Given the description of an element on the screen output the (x, y) to click on. 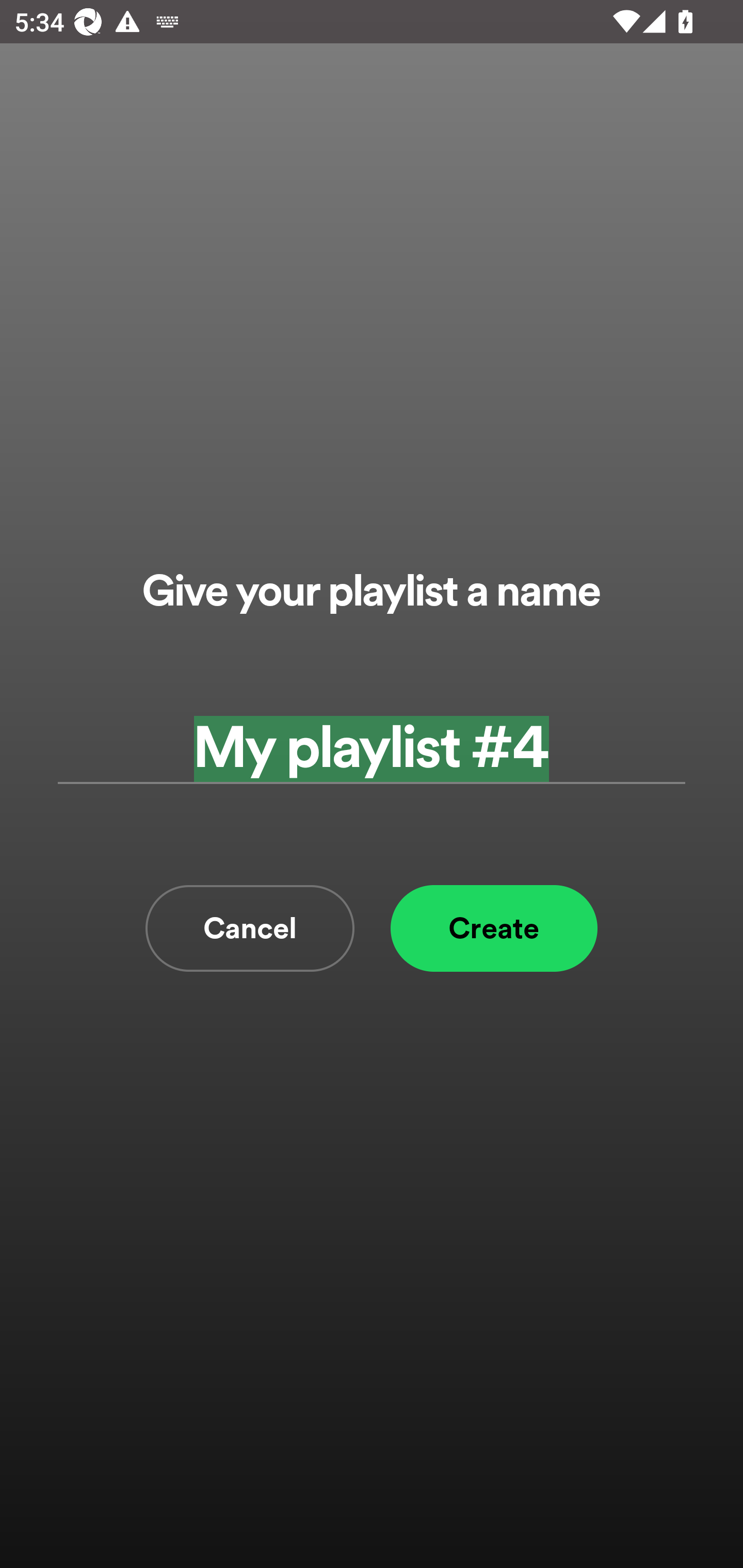
My playlist #4 Add a playlist name (371, 749)
Cancel (249, 928)
Create (493, 928)
